Given the description of an element on the screen output the (x, y) to click on. 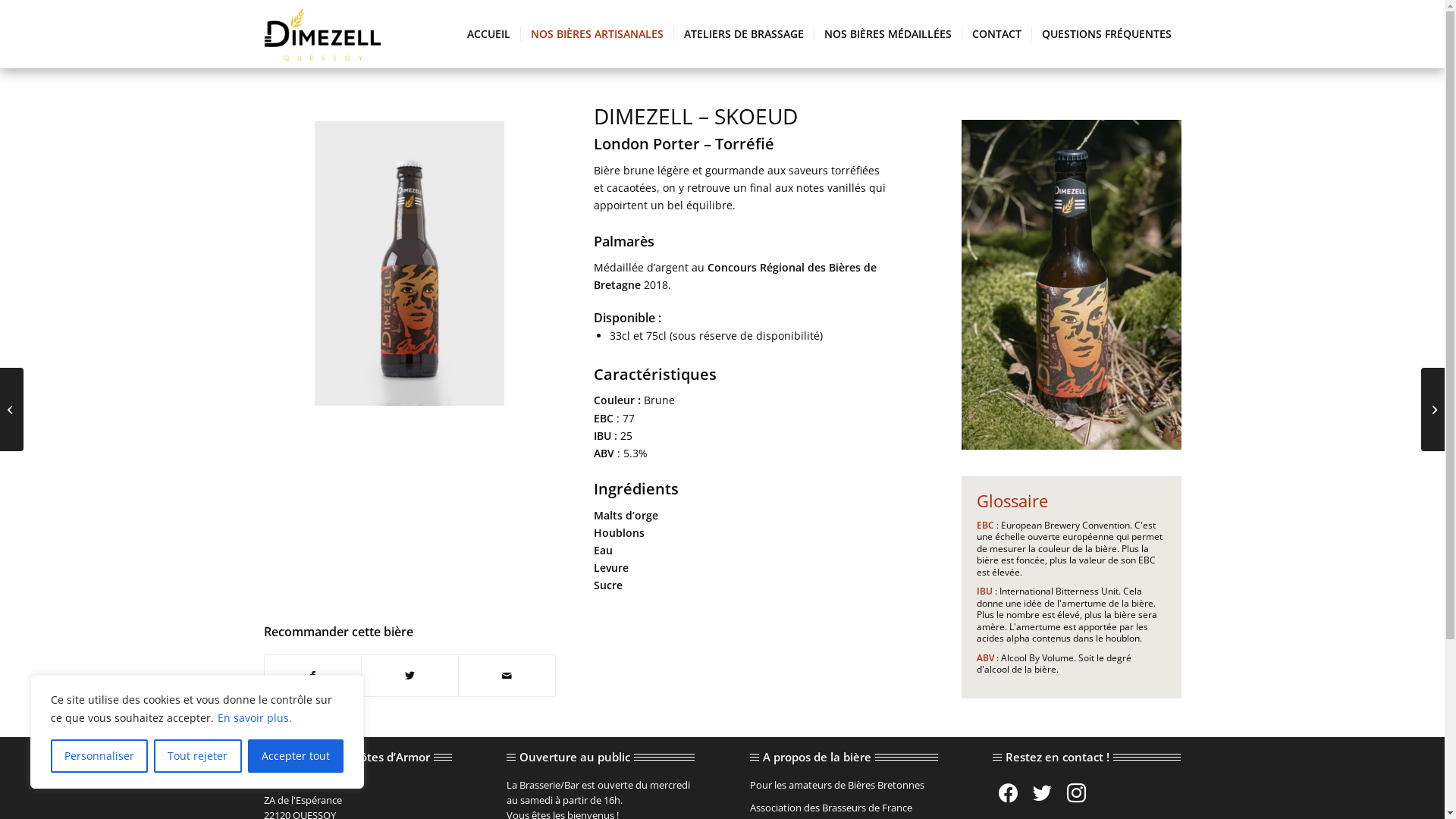
Tout rejeter Element type: text (197, 755)
CONTACT Element type: text (996, 34)
twitter Element type: text (1041, 791)
ATELIERS DE BRASSAGE Element type: text (743, 34)
instagram Element type: text (1075, 791)
Association des Brasseurs de France Element type: text (830, 807)
En savoir plus. Element type: text (254, 717)
Accepter tout Element type: text (295, 755)
facebook Element type: text (1007, 791)
brasserie-artisanale-bretonne-dimezell Element type: hover (322, 33)
ACCUEIL Element type: text (487, 34)
Personnaliser Element type: text (98, 755)
